Given the description of an element on the screen output the (x, y) to click on. 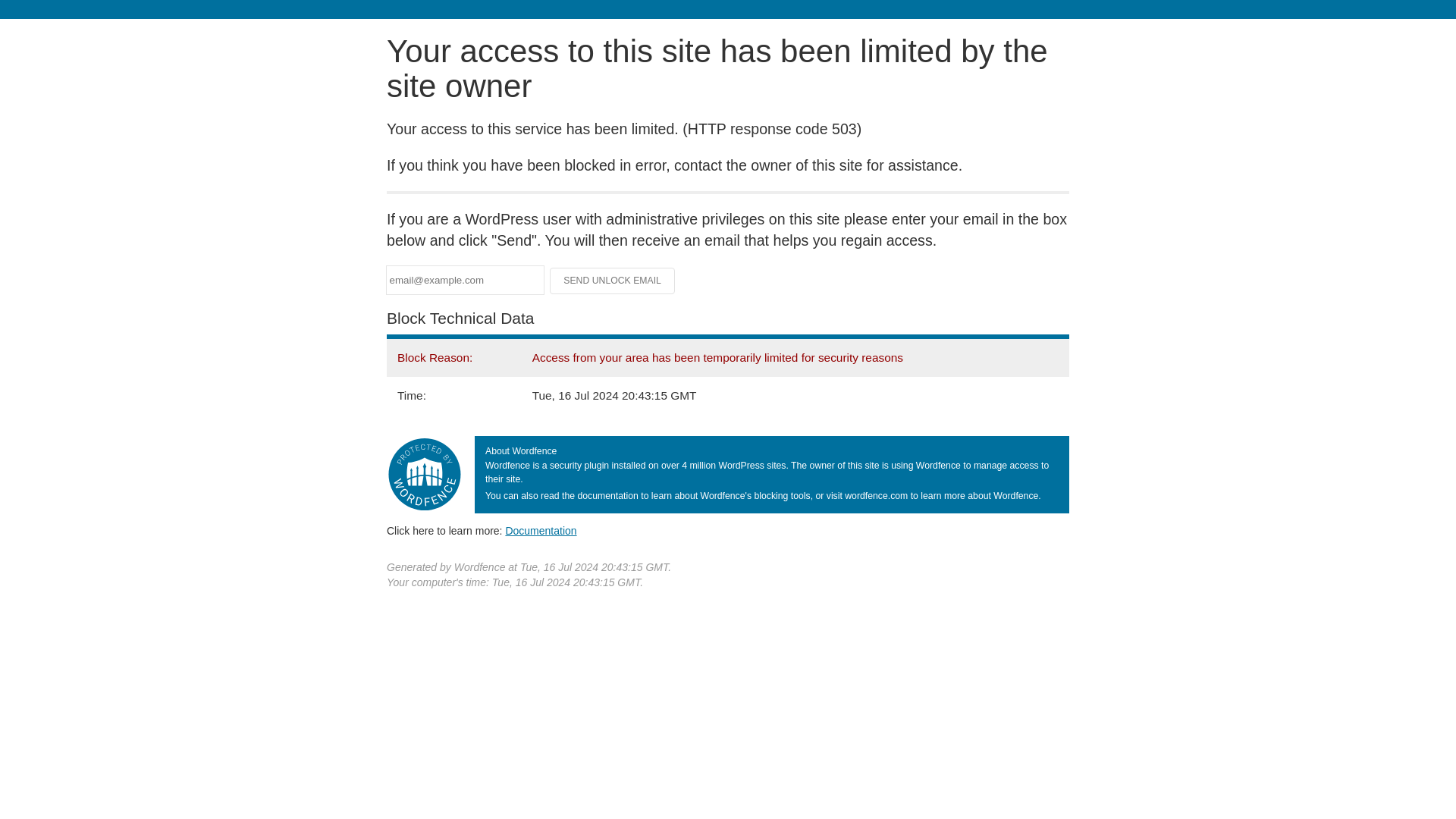
Send Unlock Email (612, 280)
Send Unlock Email (612, 280)
